Given the description of an element on the screen output the (x, y) to click on. 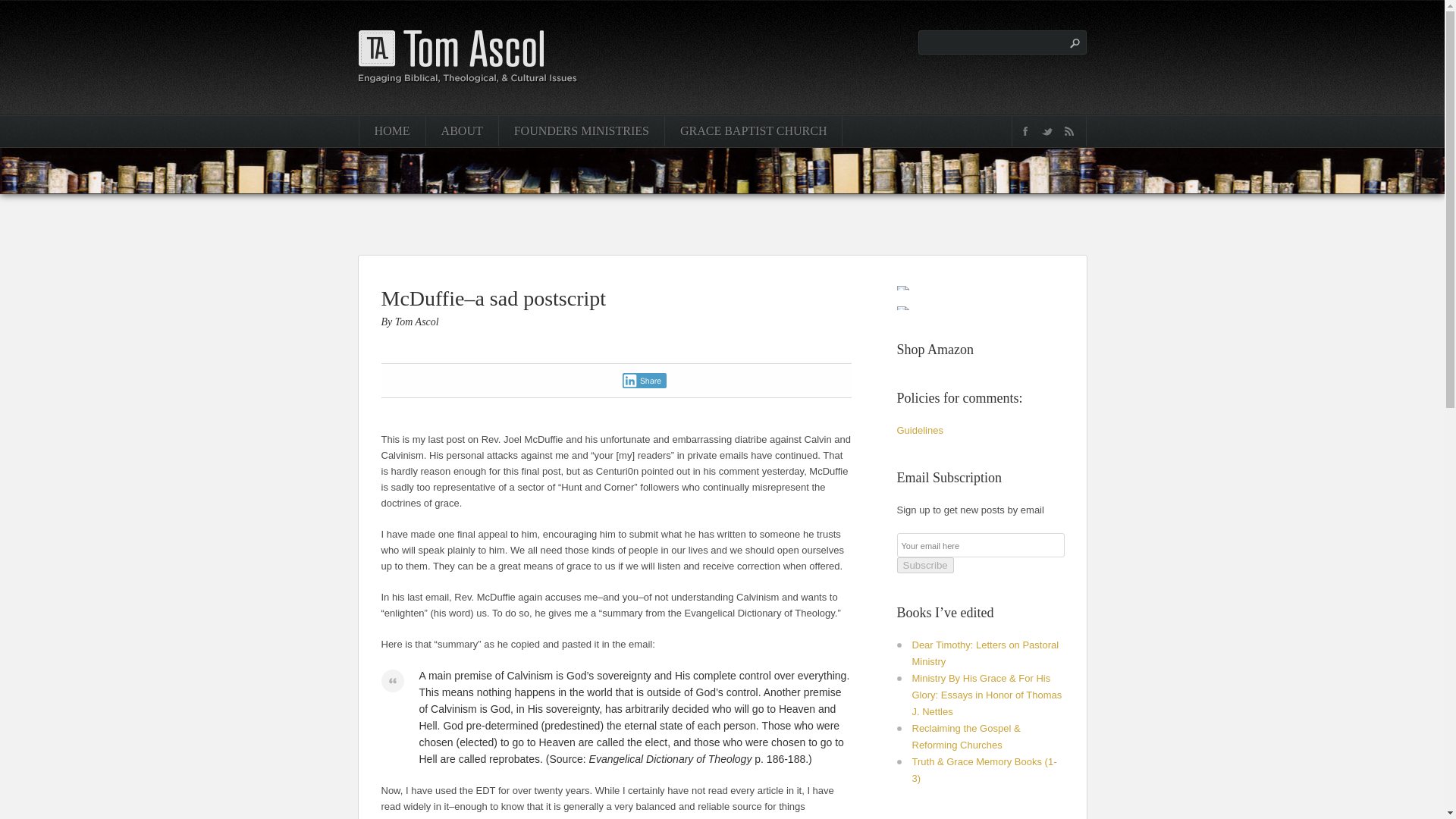
FOUNDERS MINISTRIES (580, 131)
Your email here (980, 545)
ABOUT (461, 131)
Search (1074, 43)
Your email here (980, 545)
HOME (391, 131)
Share (643, 380)
GRACE BAPTIST CHURCH (753, 131)
Facebook (1024, 131)
Search (1074, 43)
Twitter (1045, 131)
Rss (1068, 131)
